Given the description of an element on the screen output the (x, y) to click on. 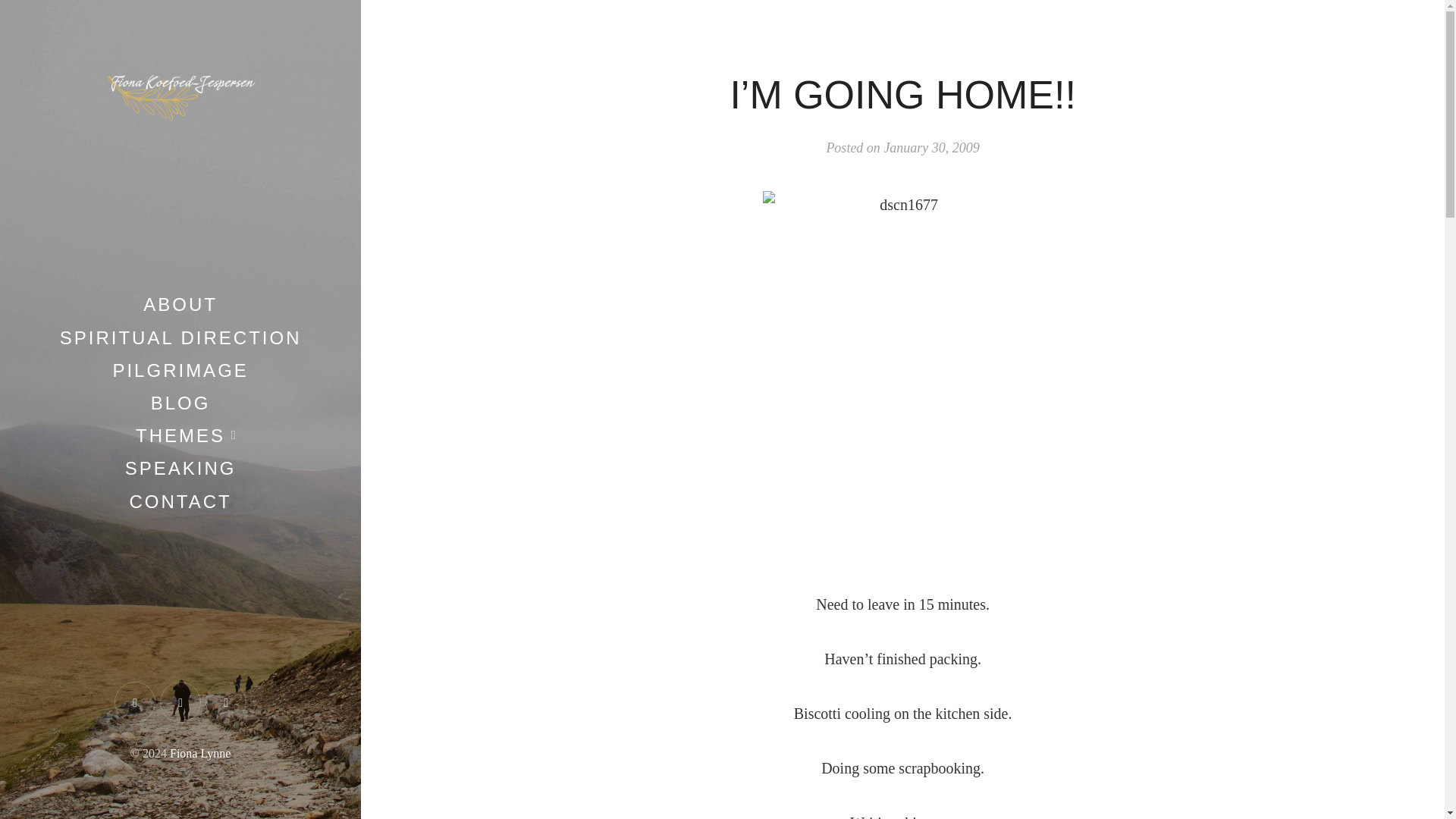
dscn1677 (902, 376)
CONTACT (180, 501)
PILGRIMAGE (179, 370)
THEMES (180, 435)
ABOUT (179, 304)
SPIRITUAL DIRECTION (180, 337)
BLOG (181, 403)
SPEAKING (180, 467)
Fiona Lynne (200, 753)
